Given the description of an element on the screen output the (x, y) to click on. 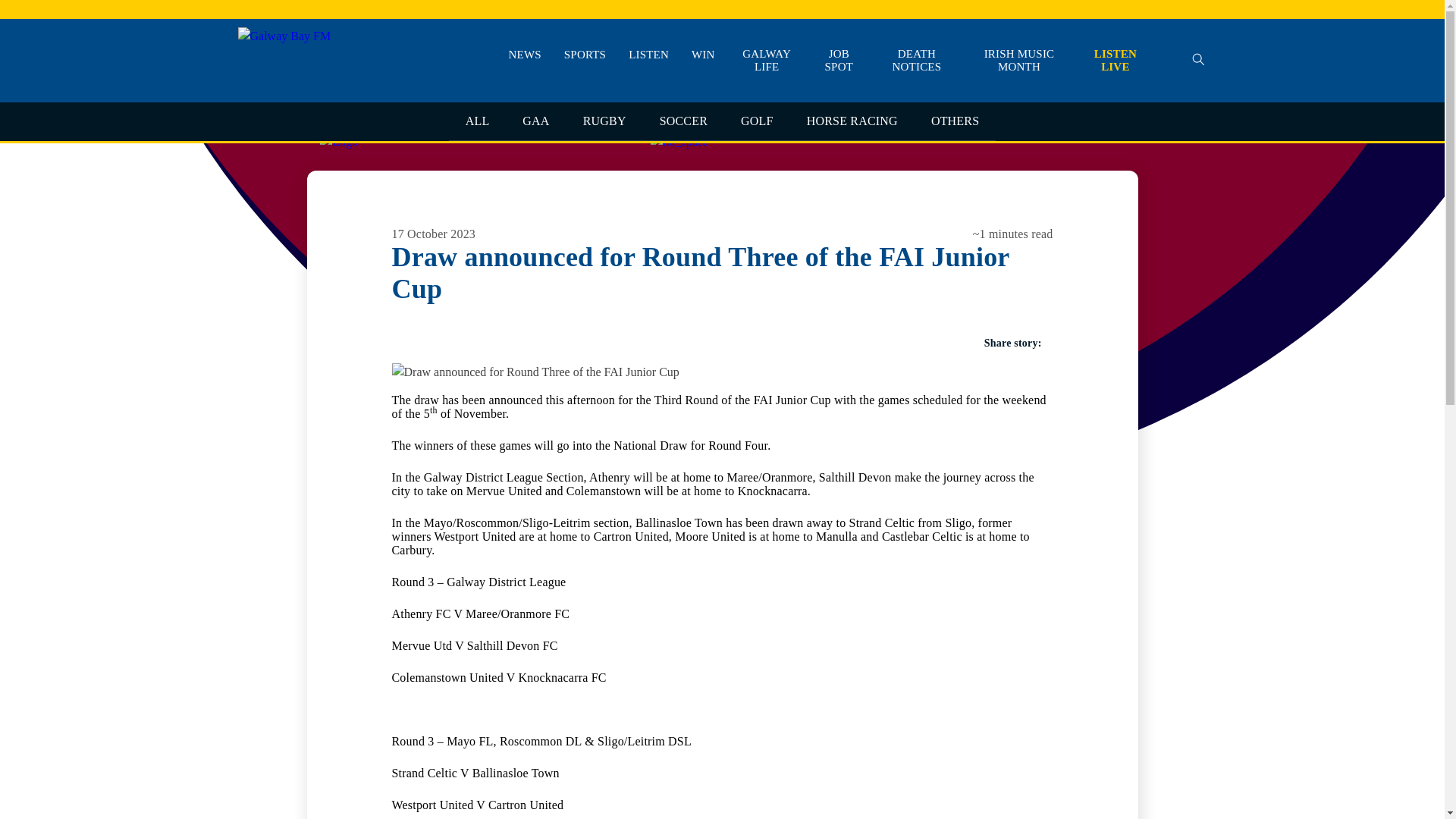
WIN (702, 54)
GALWAY LIFE (767, 60)
NEWS (524, 54)
LISTEN LIVE (1115, 60)
Galway Bay FM (279, 112)
ALL (477, 121)
RUGBY (604, 121)
HORSE RACING (852, 121)
SOCCER (683, 121)
SPORTS (584, 54)
